Given the description of an element on the screen output the (x, y) to click on. 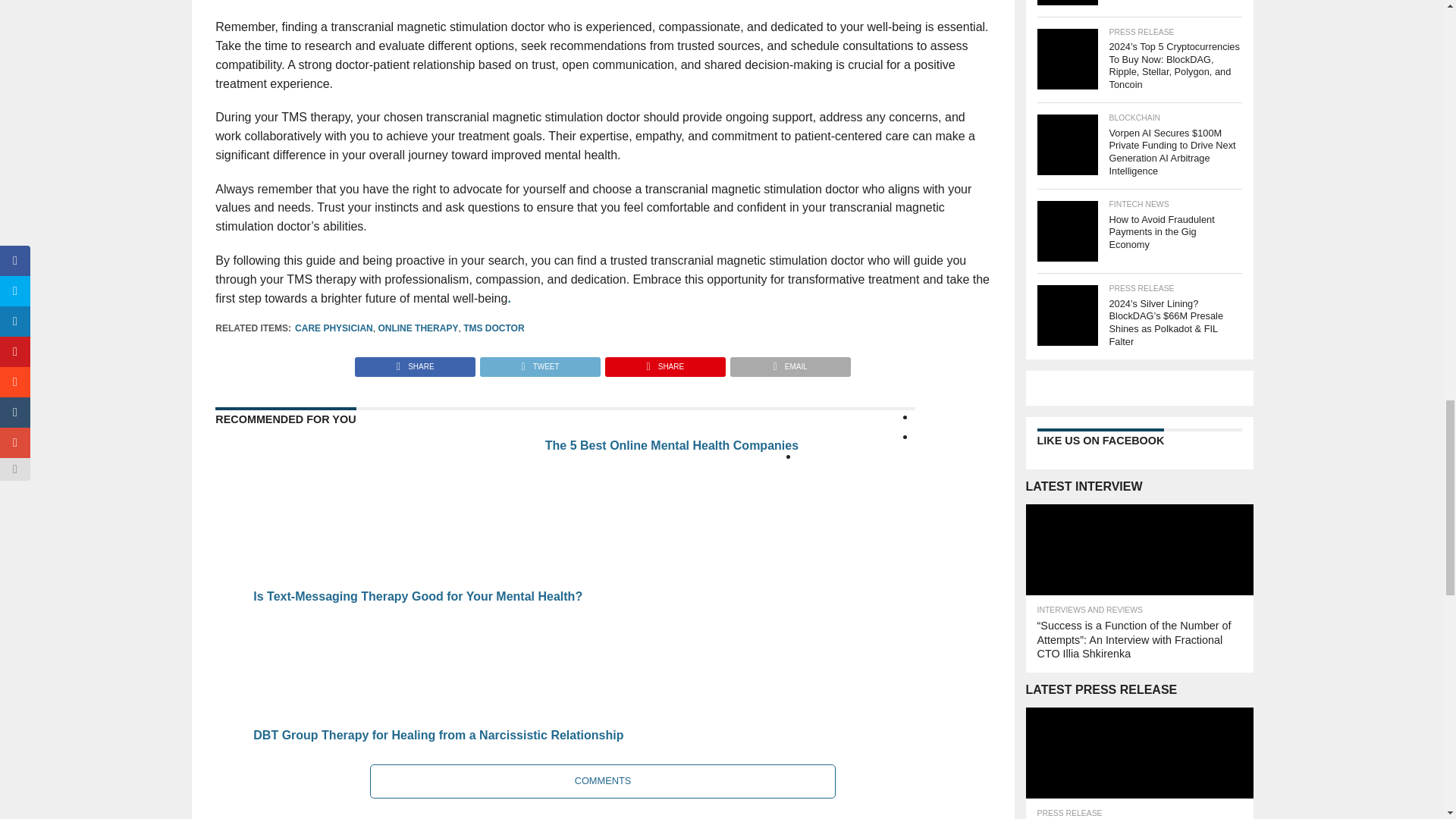
Pin This Post (664, 362)
Is Text-Messaging Therapy Good for Your Mental Health? (689, 584)
The 5 Best Online Mental Health Companies (398, 571)
Tweet This Post (539, 362)
Share on Facebook (415, 362)
